Given the description of an element on the screen output the (x, y) to click on. 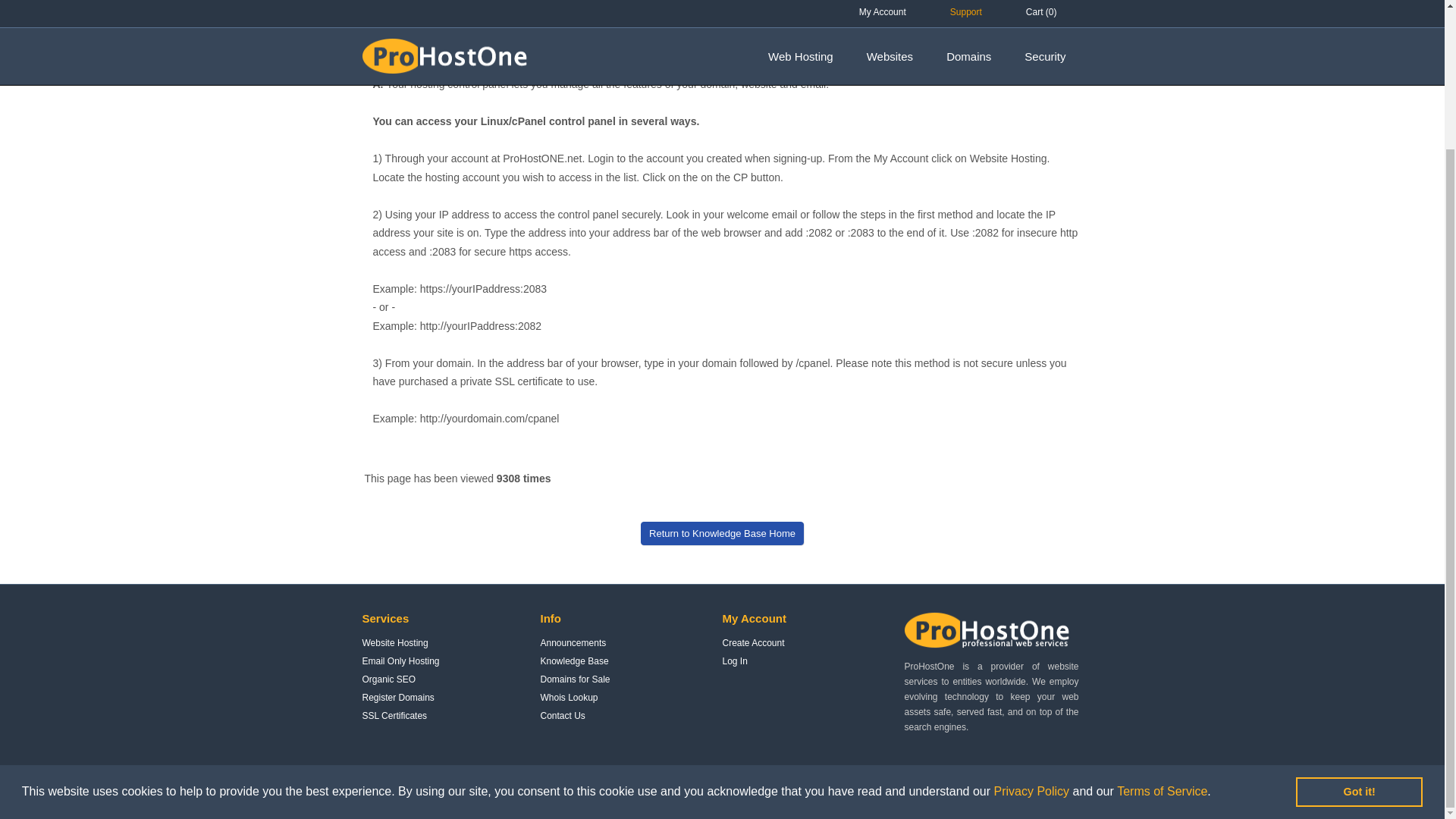
Return to Knowledge Base Home (721, 533)
Terms of Service (1161, 619)
SSL Certificates (395, 715)
Email Only Hosting (400, 661)
Organic SEO (389, 679)
ProHostOne News and Announcements (572, 643)
Knowledge Base (574, 661)
Register Domains (397, 697)
Announcements (572, 643)
Privacy Policy (1030, 619)
Website Hosting (395, 643)
Got it! (1358, 620)
